Given the description of an element on the screen output the (x, y) to click on. 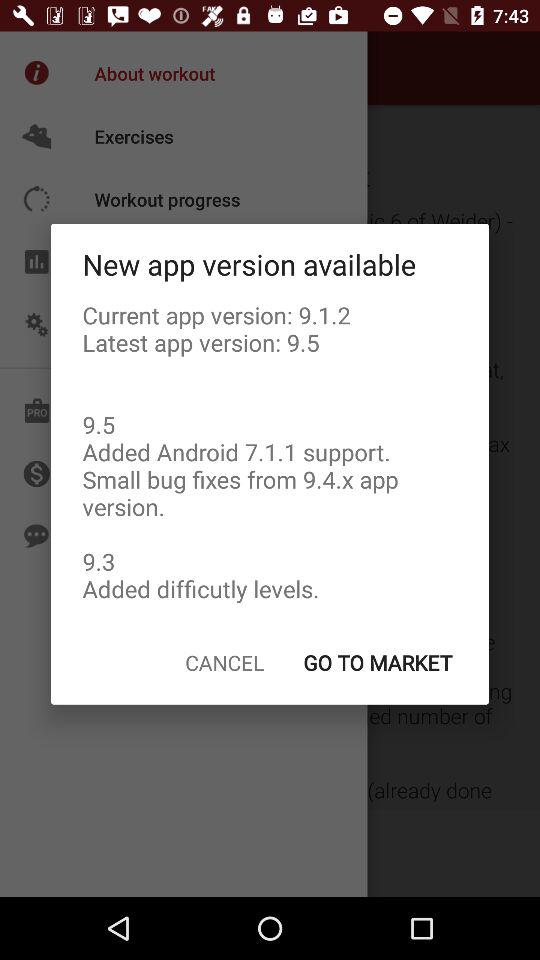
click item below the current app version icon (377, 662)
